Given the description of an element on the screen output the (x, y) to click on. 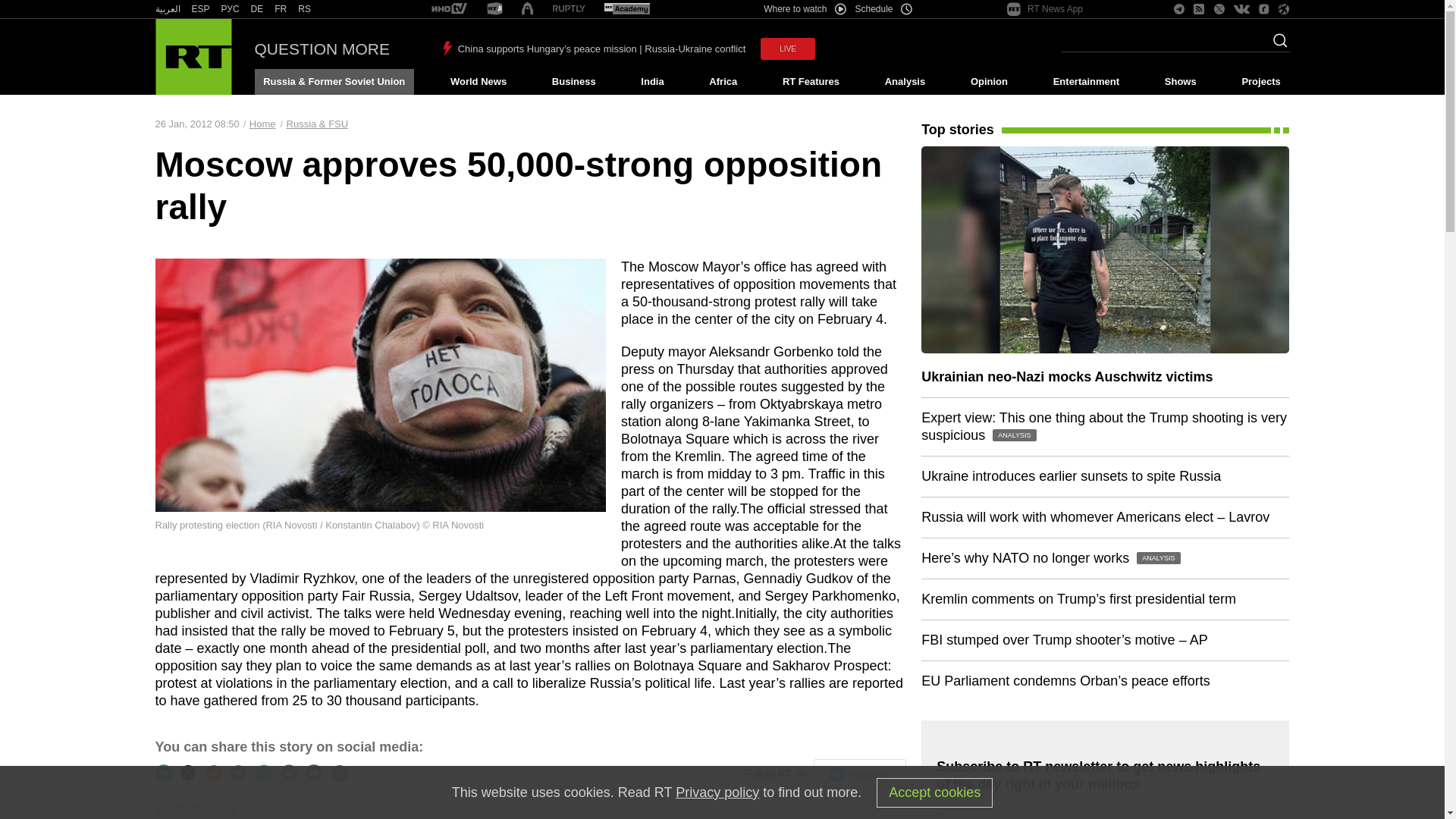
RT  (280, 9)
Entertainment (1085, 81)
RT  (569, 8)
QUESTION MORE (322, 48)
Where to watch (803, 9)
ESP (199, 9)
Business (573, 81)
Analysis (905, 81)
Africa (722, 81)
RT  (199, 9)
Opinion (988, 81)
RT News App (1045, 9)
RT Features (810, 81)
RT  (230, 9)
India (651, 81)
